Given the description of an element on the screen output the (x, y) to click on. 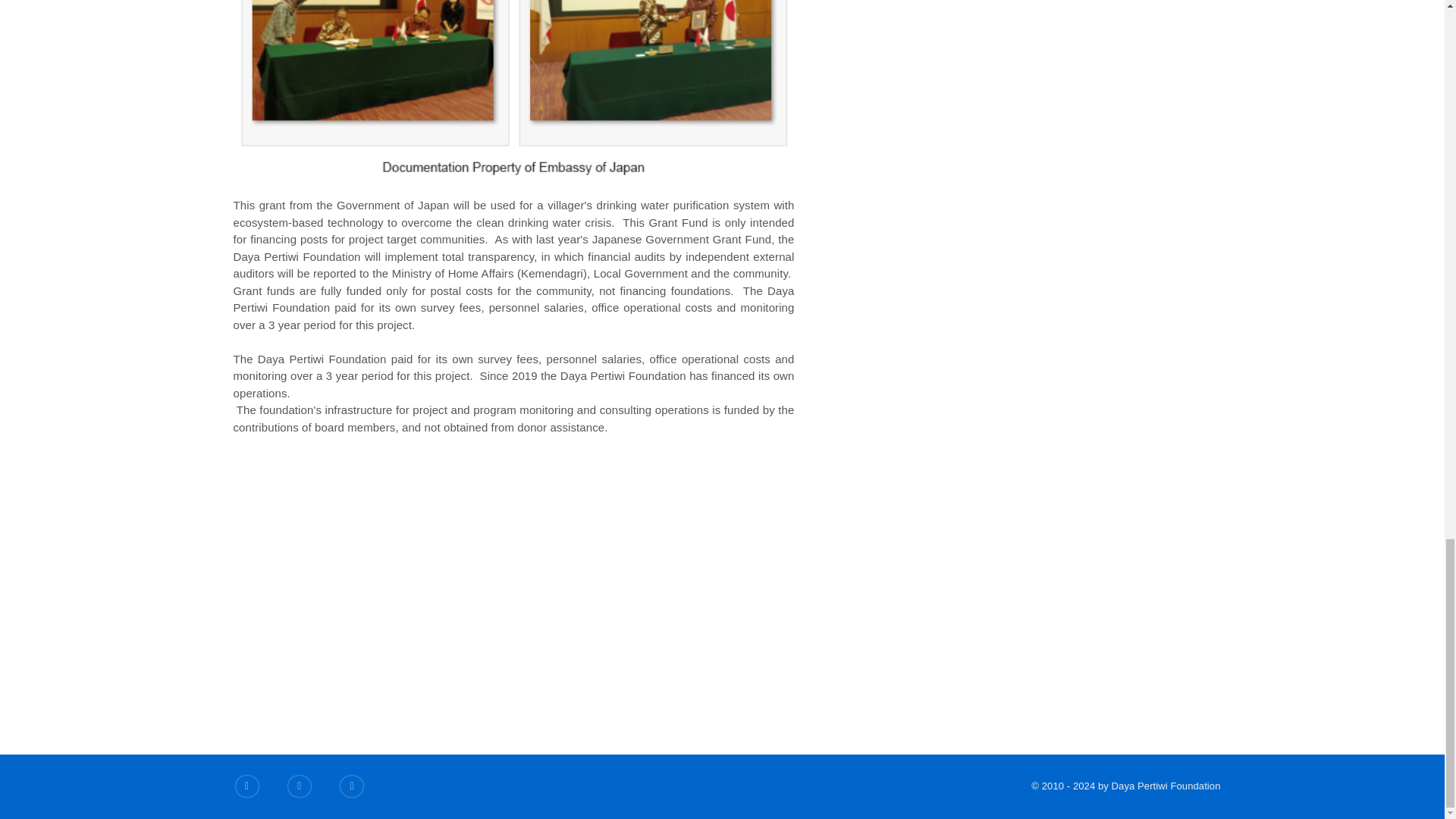
Follow us on Instagram (351, 785)
Follow us on Youtube (299, 785)
Follow us on Facebook (245, 785)
YouTube video player (513, 584)
